Given the description of an element on the screen output the (x, y) to click on. 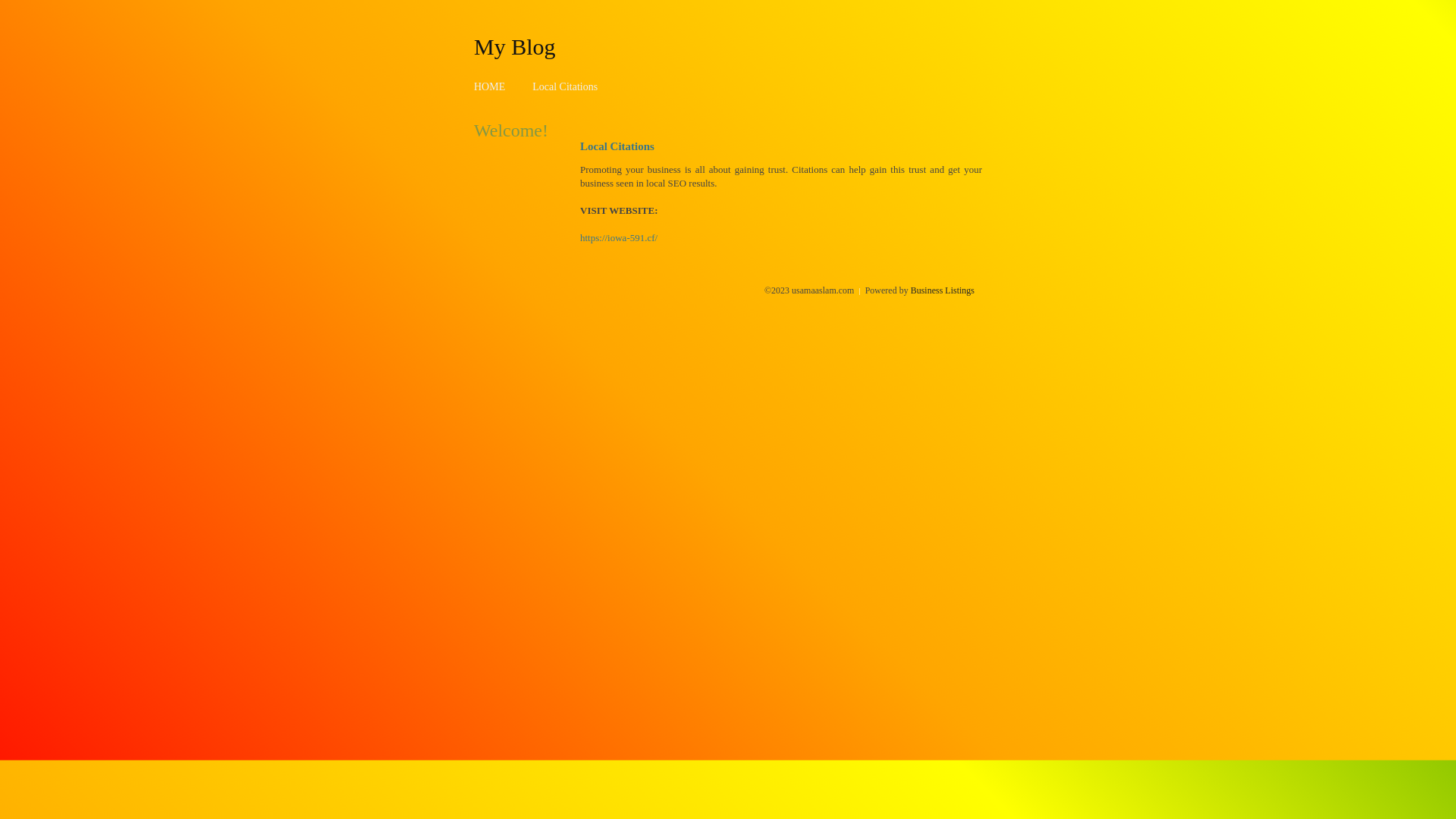
HOME Element type: text (489, 86)
Local Citations Element type: text (564, 86)
Business Listings Element type: text (942, 290)
https://iowa-591.cf/ Element type: text (618, 237)
My Blog Element type: text (514, 46)
